Given the description of an element on the screen output the (x, y) to click on. 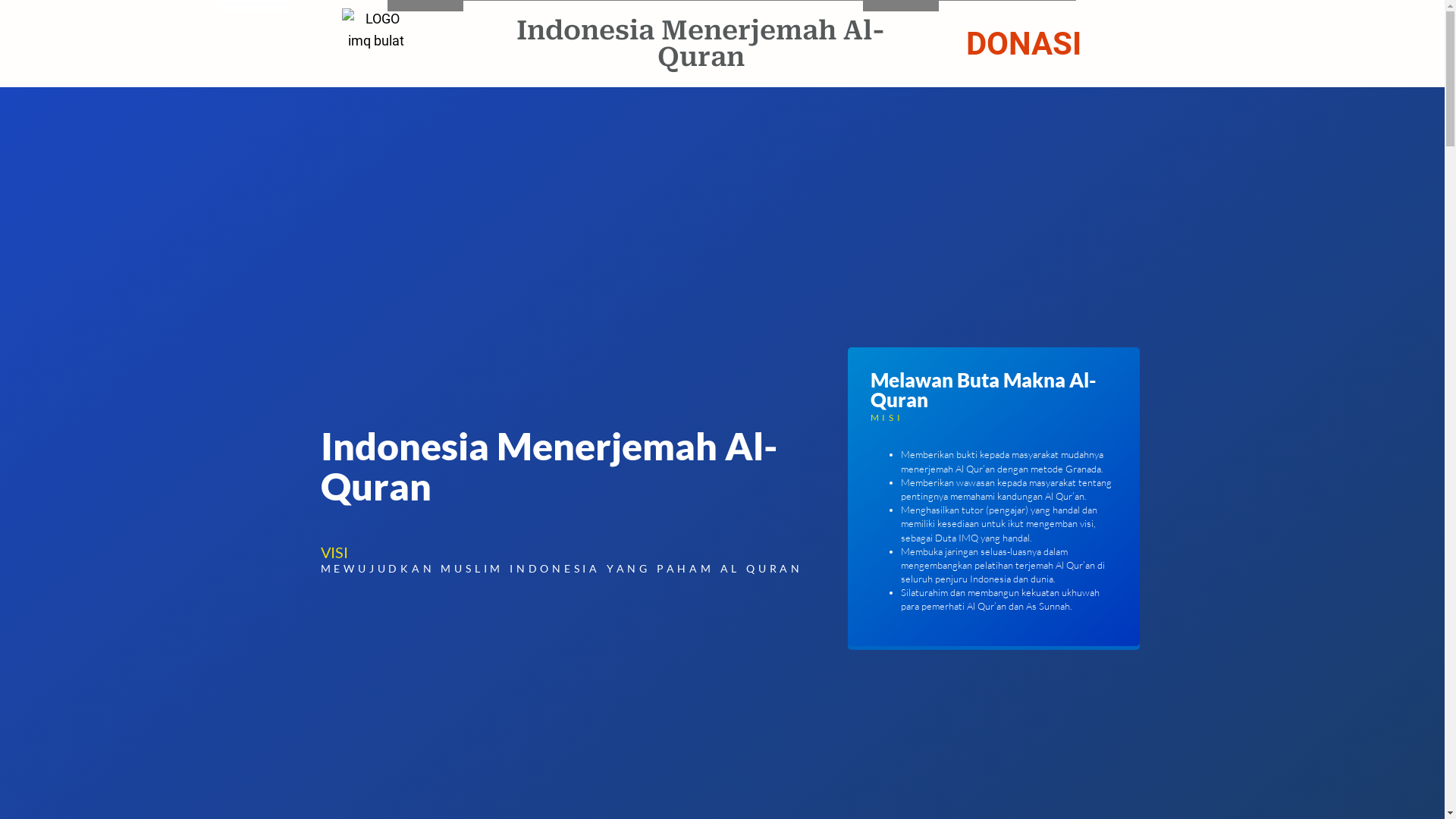
DONASI Element type: text (1023, 43)
LOGO imq bulat Element type: hover (376, 34)
Indonesia Menerjemah Al-Quran Element type: text (700, 43)
